Given the description of an element on the screen output the (x, y) to click on. 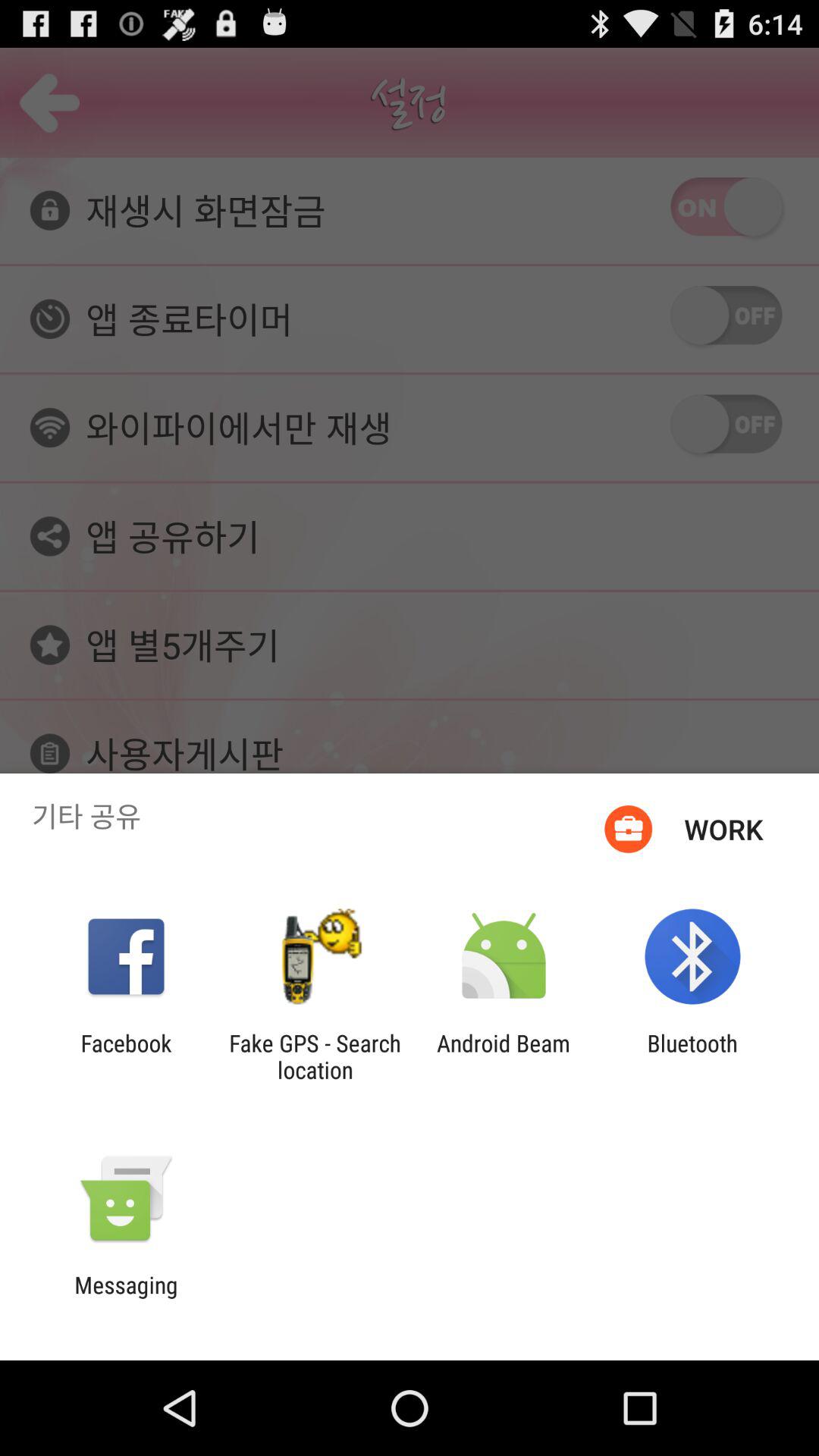
press item at the bottom right corner (692, 1056)
